Given the description of an element on the screen output the (x, y) to click on. 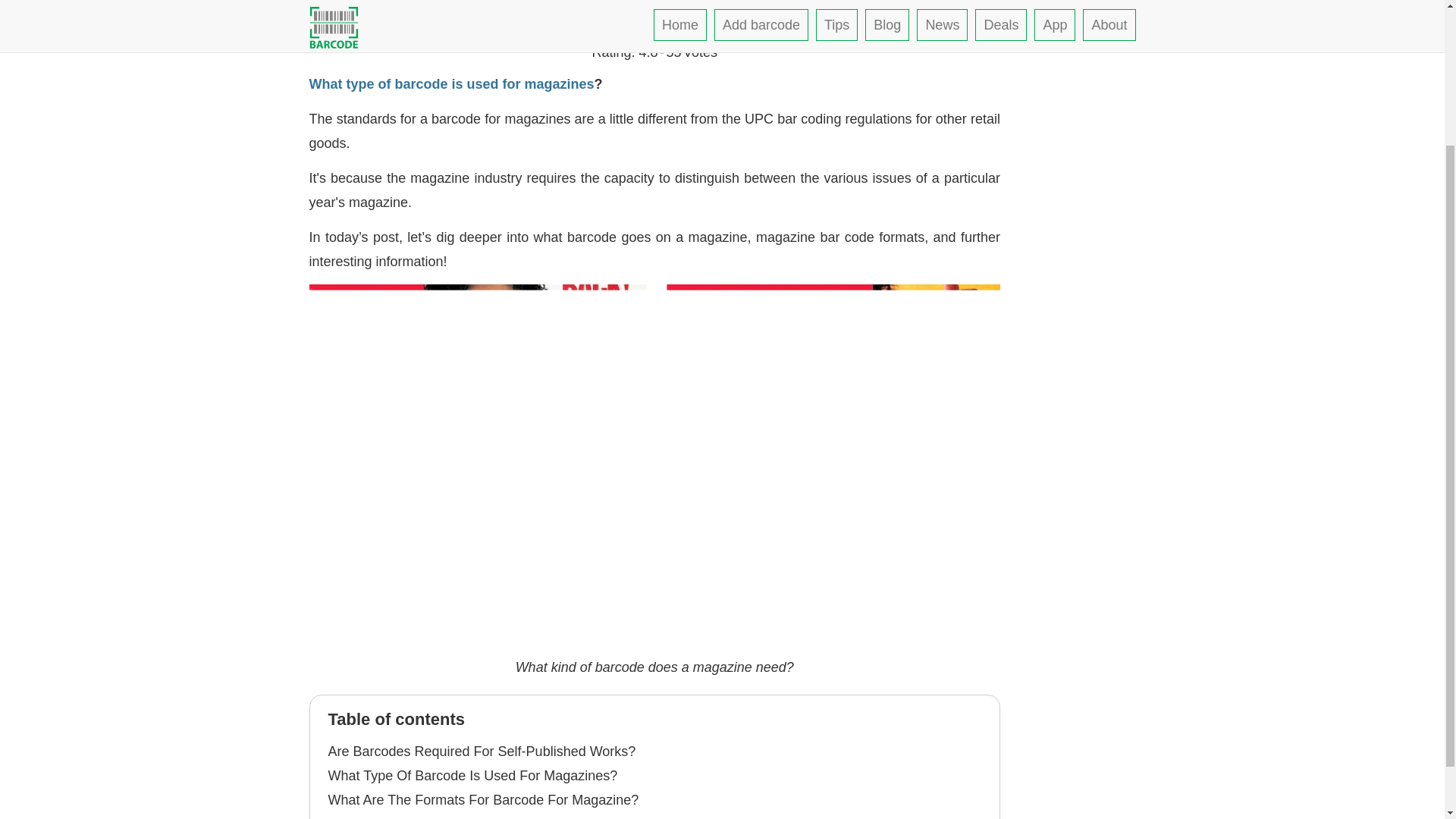
What type of barcode is used for magazines (451, 83)
What Are The Formats For Barcode For Magazine? (483, 799)
Are Barcodes Required For Self-Published Works? (480, 751)
What Type Of Barcode Is Used For Magazines? (472, 775)
